Given the description of an element on the screen output the (x, y) to click on. 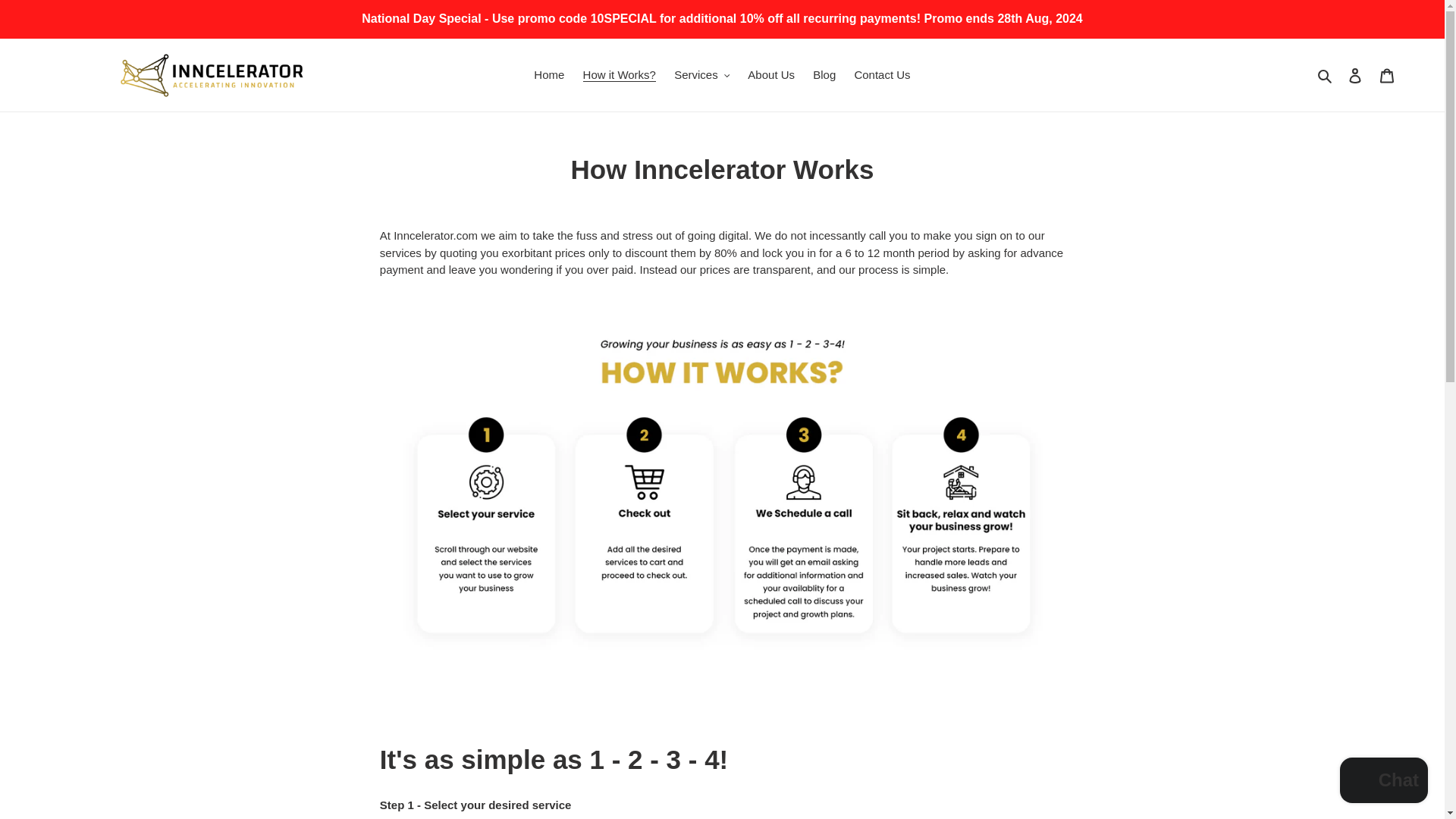
Contact Us (881, 75)
Home (548, 75)
About Us (770, 75)
Services (701, 75)
Log in (1355, 74)
Search (1326, 75)
Shopify online store chat (1383, 781)
How it Works? (619, 75)
Blog (824, 75)
Cart (1387, 74)
